Given the description of an element on the screen output the (x, y) to click on. 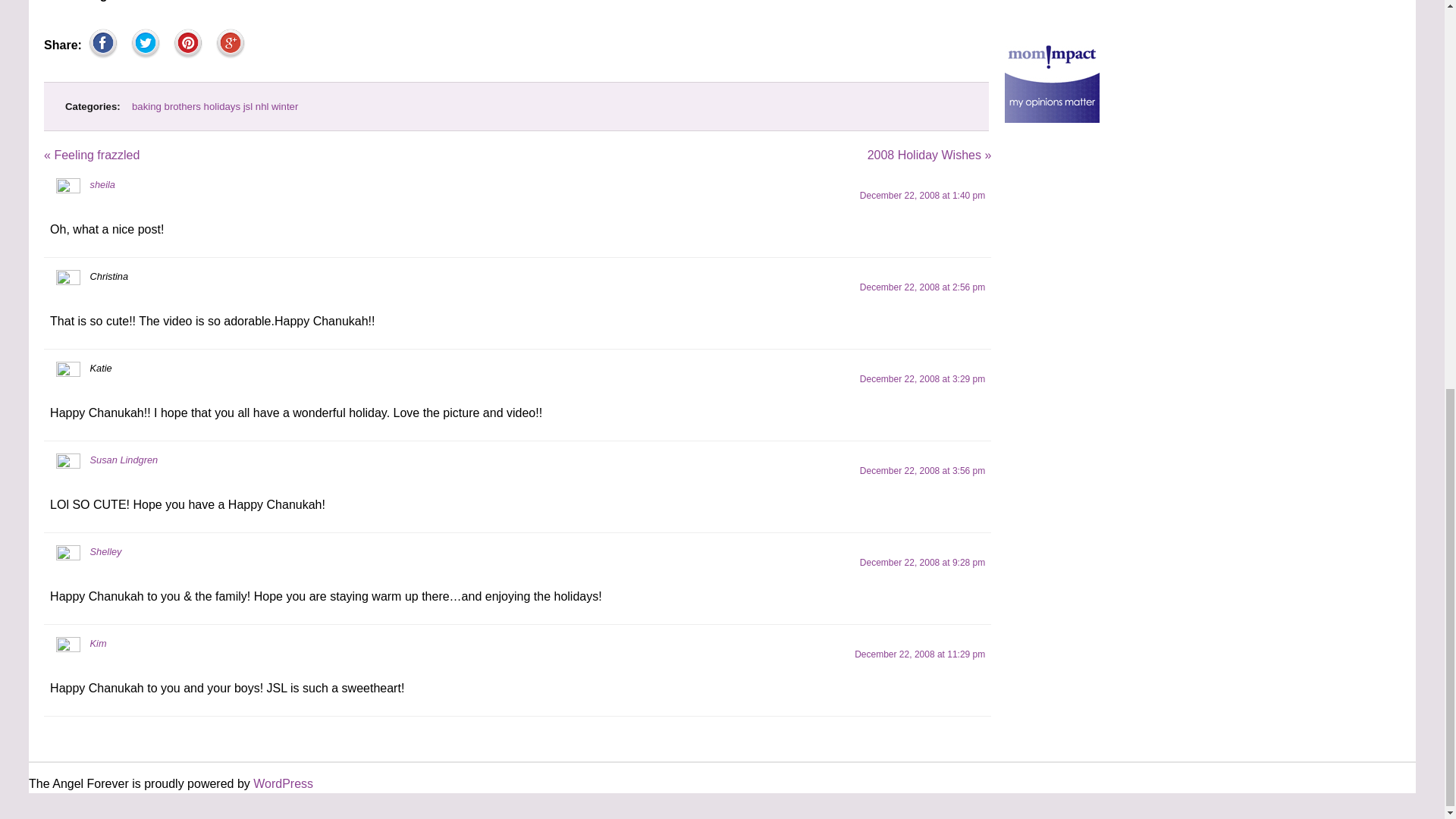
December 22, 2008 at 2:56 pm (922, 286)
winter (284, 106)
nhl (262, 106)
sheila (102, 184)
brothers (182, 106)
December 22, 2008 at 3:29 pm (922, 378)
December 22, 2008 at 1:40 pm (922, 195)
holidays (221, 106)
baking (146, 106)
